Given the description of an element on the screen output the (x, y) to click on. 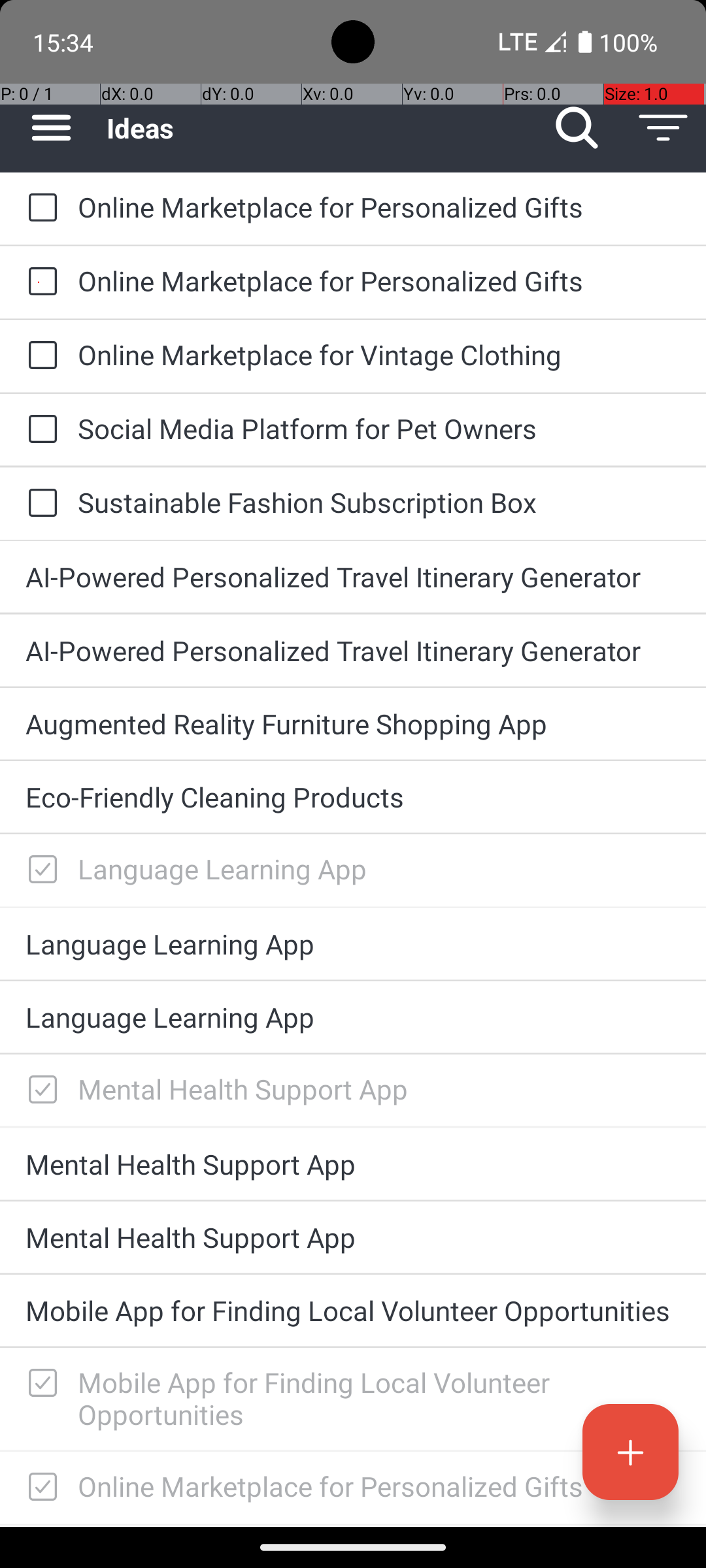
to-do: Online Marketplace for Personalized Gifts Element type: android.widget.CheckBox (38, 208)
Online Marketplace for Personalized Gifts Element type: android.widget.TextView (378, 206)
to-do: Online Marketplace for Vintage Clothing Element type: android.widget.CheckBox (38, 356)
Online Marketplace for Vintage Clothing Element type: android.widget.TextView (378, 354)
to-do: Social Media Platform for Pet Owners Element type: android.widget.CheckBox (38, 429)
Social Media Platform for Pet Owners Element type: android.widget.TextView (378, 427)
to-do: Sustainable Fashion Subscription Box Element type: android.widget.CheckBox (38, 503)
Sustainable Fashion Subscription Box Element type: android.widget.TextView (378, 501)
AI-Powered Personalized Travel Itinerary Generator Element type: android.widget.TextView (352, 576)
Augmented Reality Furniture Shopping App Element type: android.widget.TextView (352, 723)
Eco-Friendly Cleaning Products Element type: android.widget.TextView (352, 796)
to-do: Language Learning App Element type: android.widget.CheckBox (38, 870)
Language Learning App Element type: android.widget.TextView (378, 868)
to-do: Mental Health Support App Element type: android.widget.CheckBox (38, 1090)
Mental Health Support App Element type: android.widget.TextView (378, 1088)
Mobile App for Finding Local Volunteer Opportunities Element type: android.widget.TextView (352, 1309)
to-do: Mobile App for Finding Local Volunteer Opportunities Element type: android.widget.CheckBox (38, 1383)
